Given the description of an element on the screen output the (x, y) to click on. 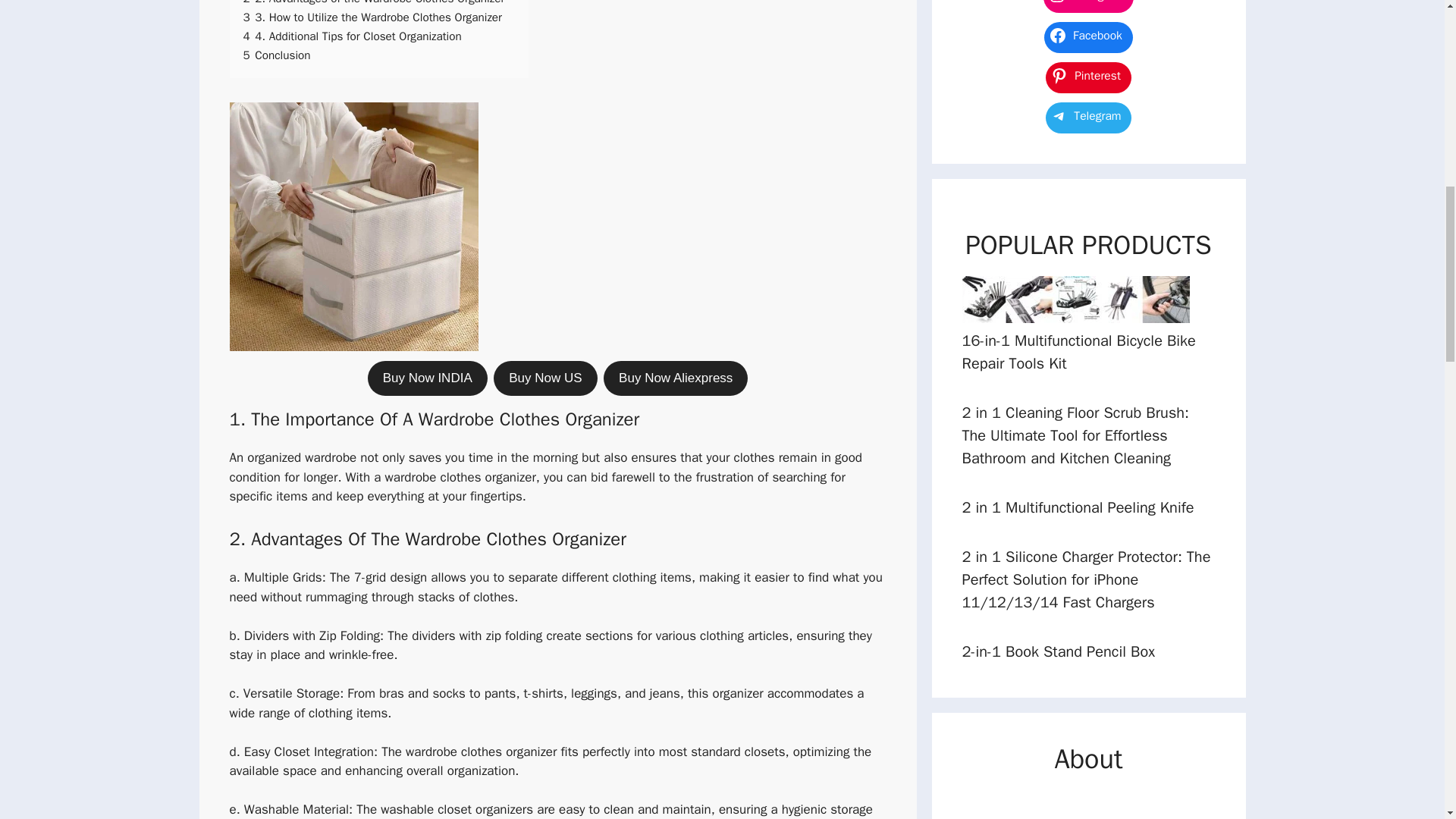
4 4. Additional Tips for Closet Organization (352, 36)
5 Conclusion (276, 55)
3 3. How to Utilize the Wardrobe Clothes Organizer (371, 17)
16-in-1 Multifunctional Bicycle Bike Repair Tools Kit (1077, 352)
Buy Now US (544, 378)
2 in 1 Multifunctional Peeling Knife (1076, 506)
Scroll back to top (1406, 720)
Instagram (1088, 4)
Telegram (1088, 115)
2 2. Advantages of the Wardrobe Clothes Organizer (373, 2)
Buy Now Aliexpress (676, 378)
Facebook (1087, 35)
2-in-1 Book Stand Pencil Box (1057, 651)
Pinterest (1088, 75)
Buy Now INDIA (427, 378)
